Given the description of an element on the screen output the (x, y) to click on. 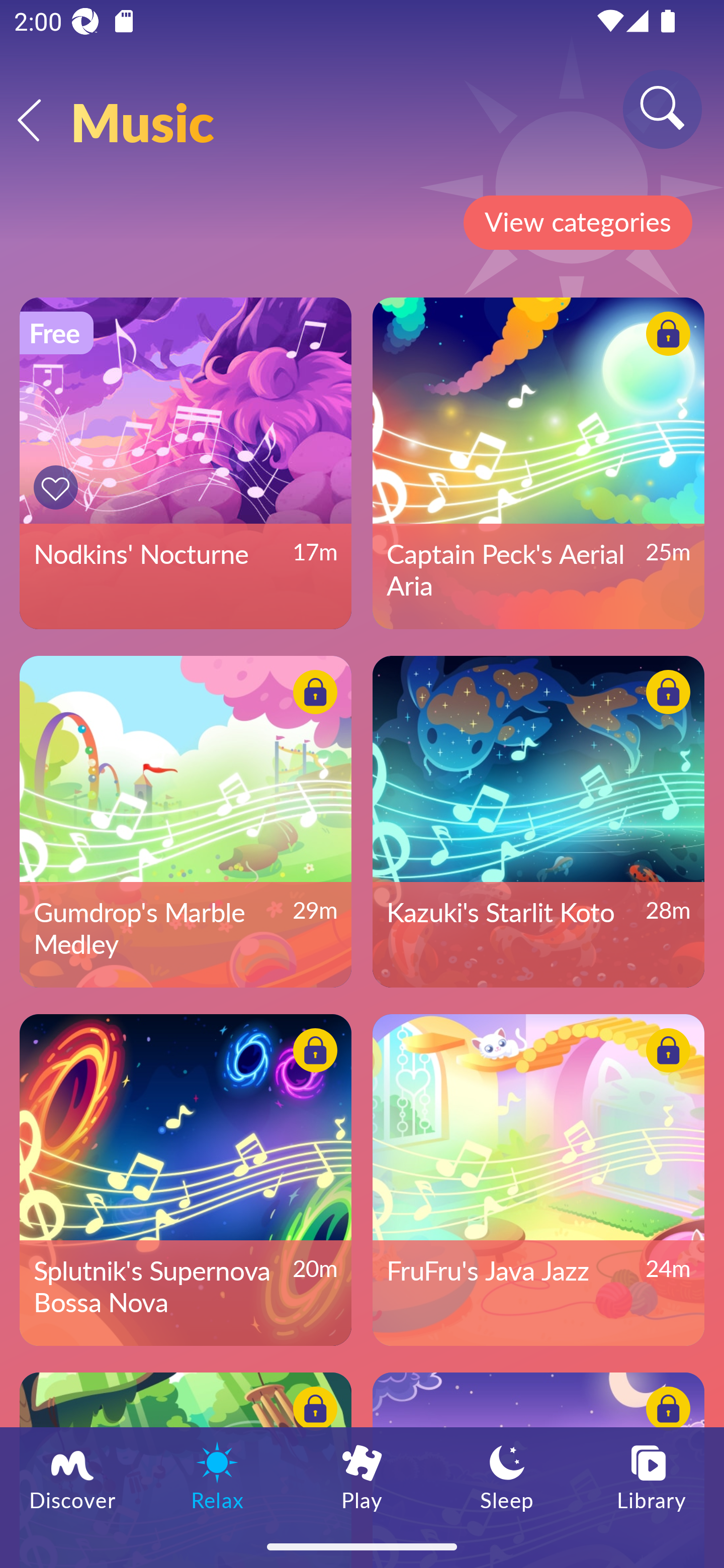
View categories (577, 222)
Featured Content Free Button Nodkins' Nocturne 17m (185, 462)
Button (665, 336)
Button (58, 487)
Button (311, 694)
Featured Content Button Kazuki's Starlit Koto 28m (538, 821)
Button (665, 694)
Button (311, 1053)
Featured Content Button FruFru's Java Jazz 24m (538, 1179)
Button (665, 1053)
Button (311, 1411)
Button (665, 1411)
Discover (72, 1475)
Play (361, 1475)
Sleep (506, 1475)
Library (651, 1475)
